Given the description of an element on the screen output the (x, y) to click on. 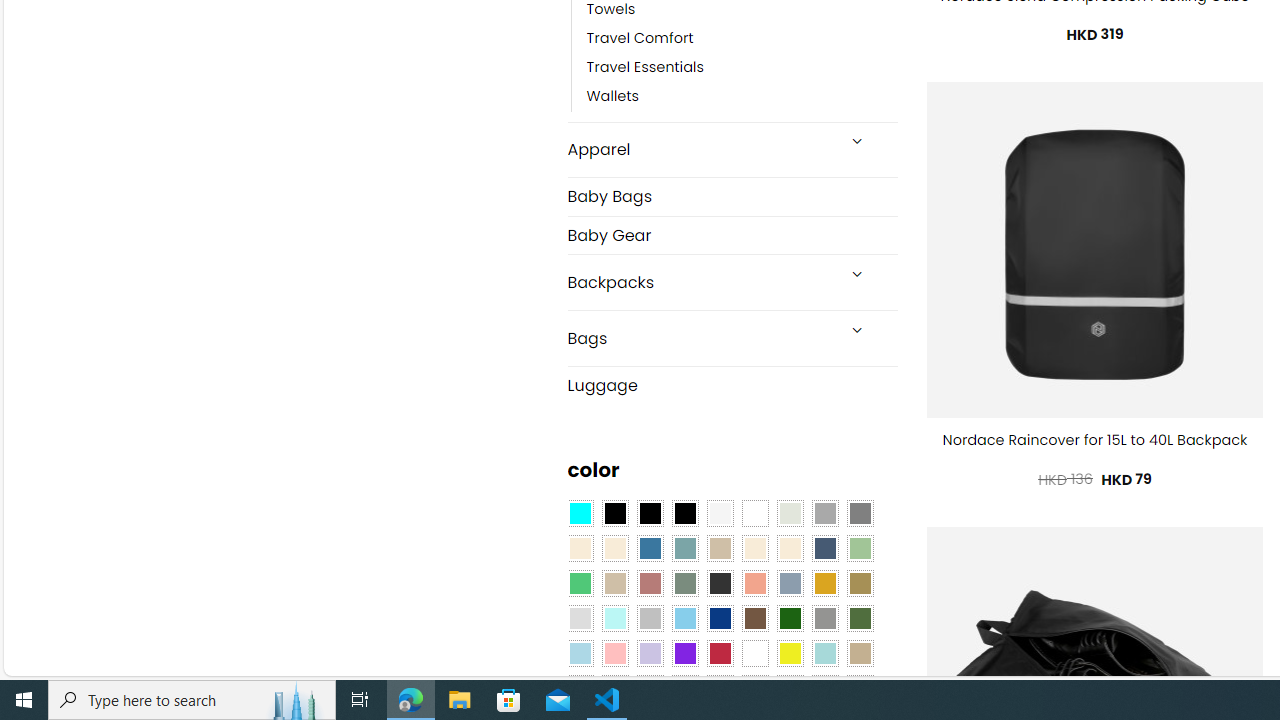
Baby Bags (732, 196)
Rose (650, 583)
Backpacks (700, 282)
White (755, 653)
Silver (650, 619)
Dark Gray (824, 514)
Aqua (824, 653)
Cream (789, 548)
Beige (579, 548)
Travel Essentials (742, 67)
Red (719, 653)
Purple (684, 653)
Brownie (719, 548)
Light Taupe (614, 583)
Light Gray (579, 619)
